Given the description of an element on the screen output the (x, y) to click on. 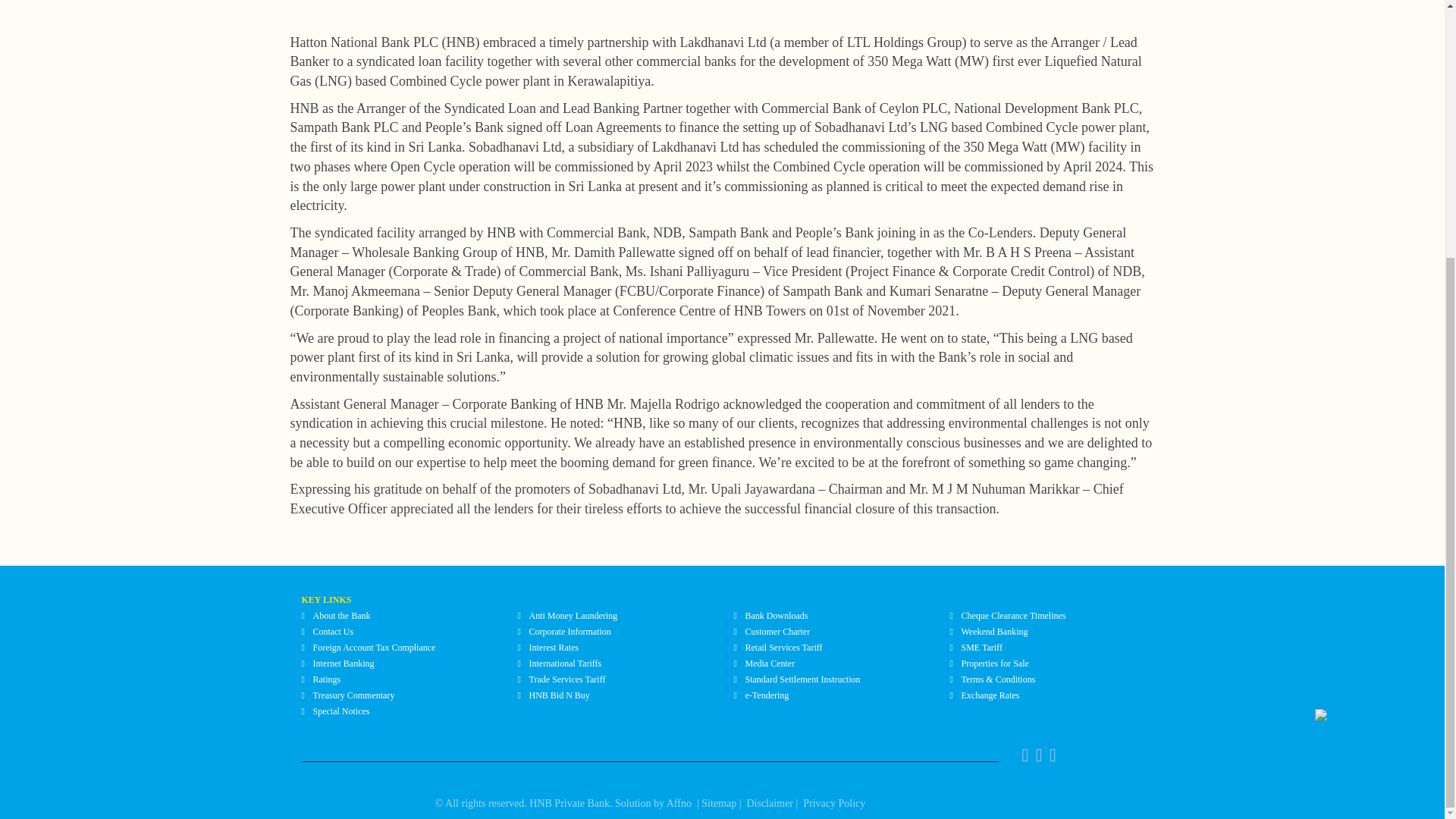
Interest Rates (554, 647)
Treasury Commentary (353, 695)
About the Bank (341, 615)
Bank Downloads (776, 615)
Retail Services Tariff (783, 647)
Properties for Sale (994, 663)
Contact Us (333, 631)
Cheque Clearance Timelines (1012, 615)
Standard Settlement Instruction (802, 679)
Special Notices (341, 710)
